Given the description of an element on the screen output the (x, y) to click on. 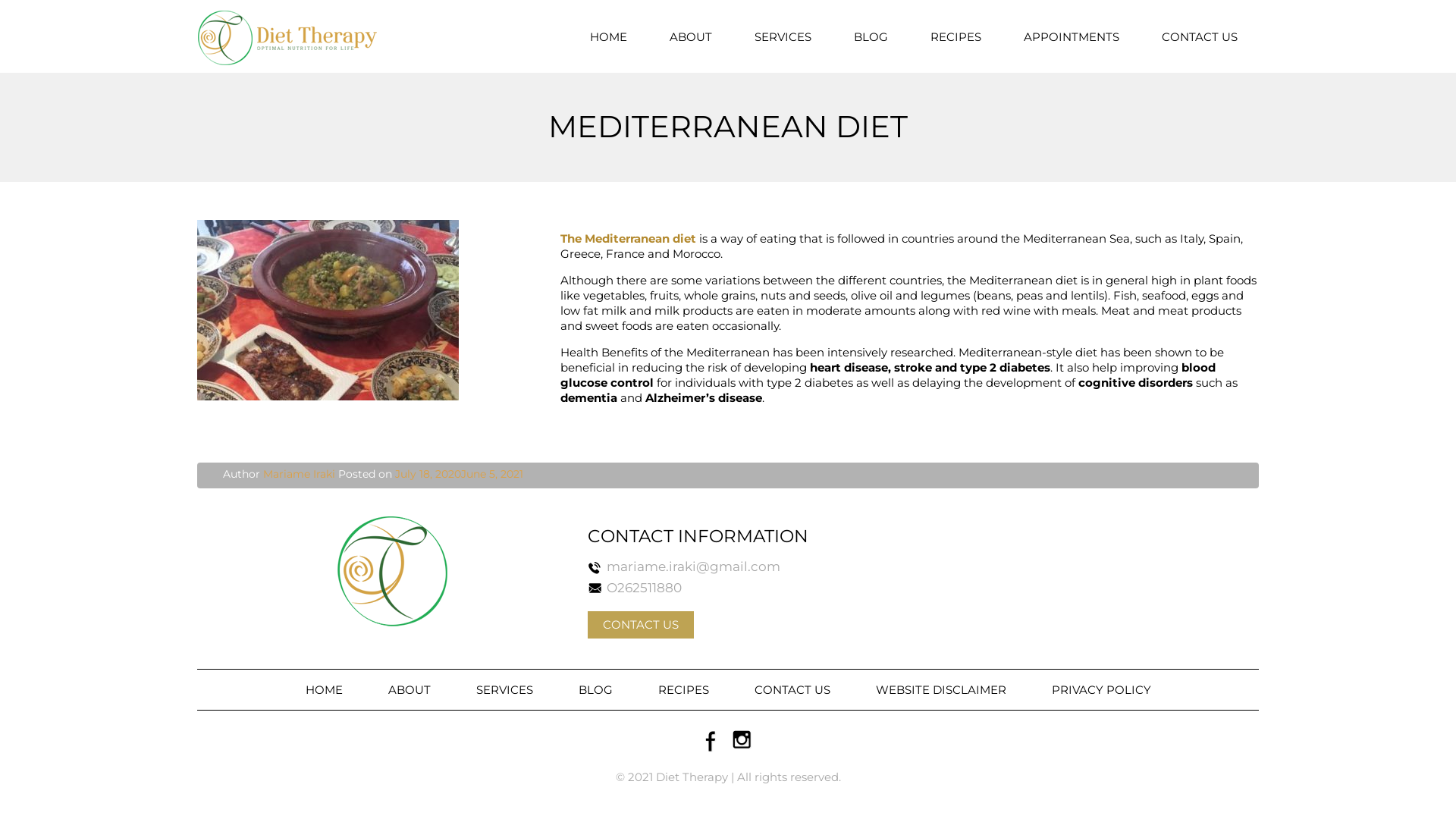
mariame.iraki@gmail.com Element type: text (693, 566)
RECIPES Element type: text (955, 36)
RECIPES Element type: text (683, 689)
O262511880 Element type: text (643, 587)
APPOINTMENTS Element type: text (1071, 36)
HOME Element type: text (323, 689)
ABOUT Element type: text (690, 36)
HOME Element type: text (608, 36)
PRIVACY POLICY Element type: text (1100, 689)
SERVICES Element type: text (504, 689)
WEBSITE DISCLAIMER Element type: text (940, 689)
CONTACT US Element type: text (1199, 36)
CONTACT US Element type: text (791, 689)
ABOUT Element type: text (409, 689)
BLOG Element type: text (870, 36)
BLOG Element type: text (594, 689)
July 18, 2020June 5, 2021 Element type: text (459, 473)
CONTACT US Element type: text (640, 624)
SERVICES Element type: text (782, 36)
Mariame Iraki Element type: text (299, 473)
